Given the description of an element on the screen output the (x, y) to click on. 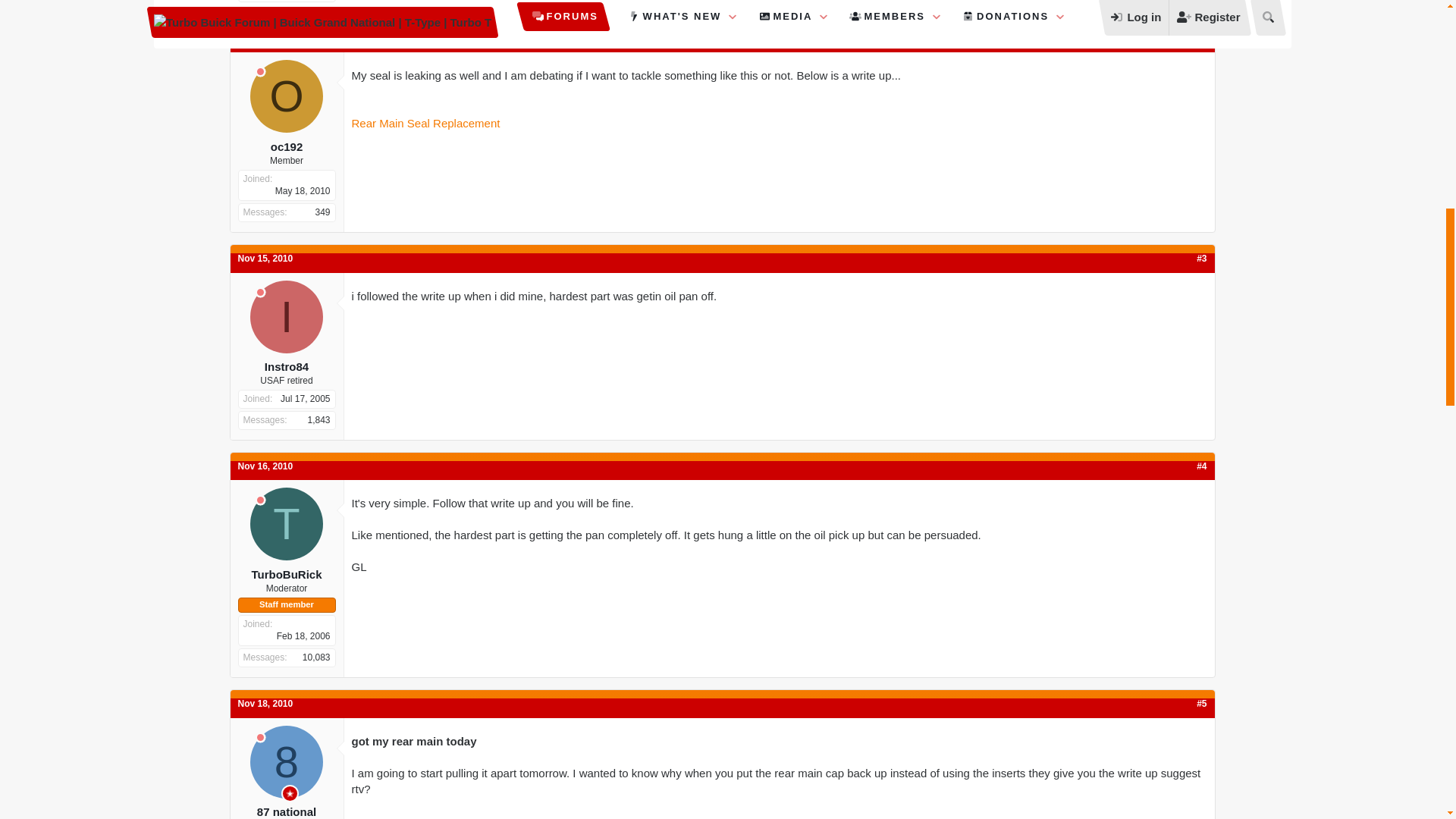
Nov 18, 2010 at 7:39 PM (266, 703)
Nov 16, 2010 at 6:56 AM (266, 466)
Nov 15, 2010 at 10:51 PM (266, 38)
Nov 15, 2010 at 11:43 PM (266, 258)
